Given the description of an element on the screen output the (x, y) to click on. 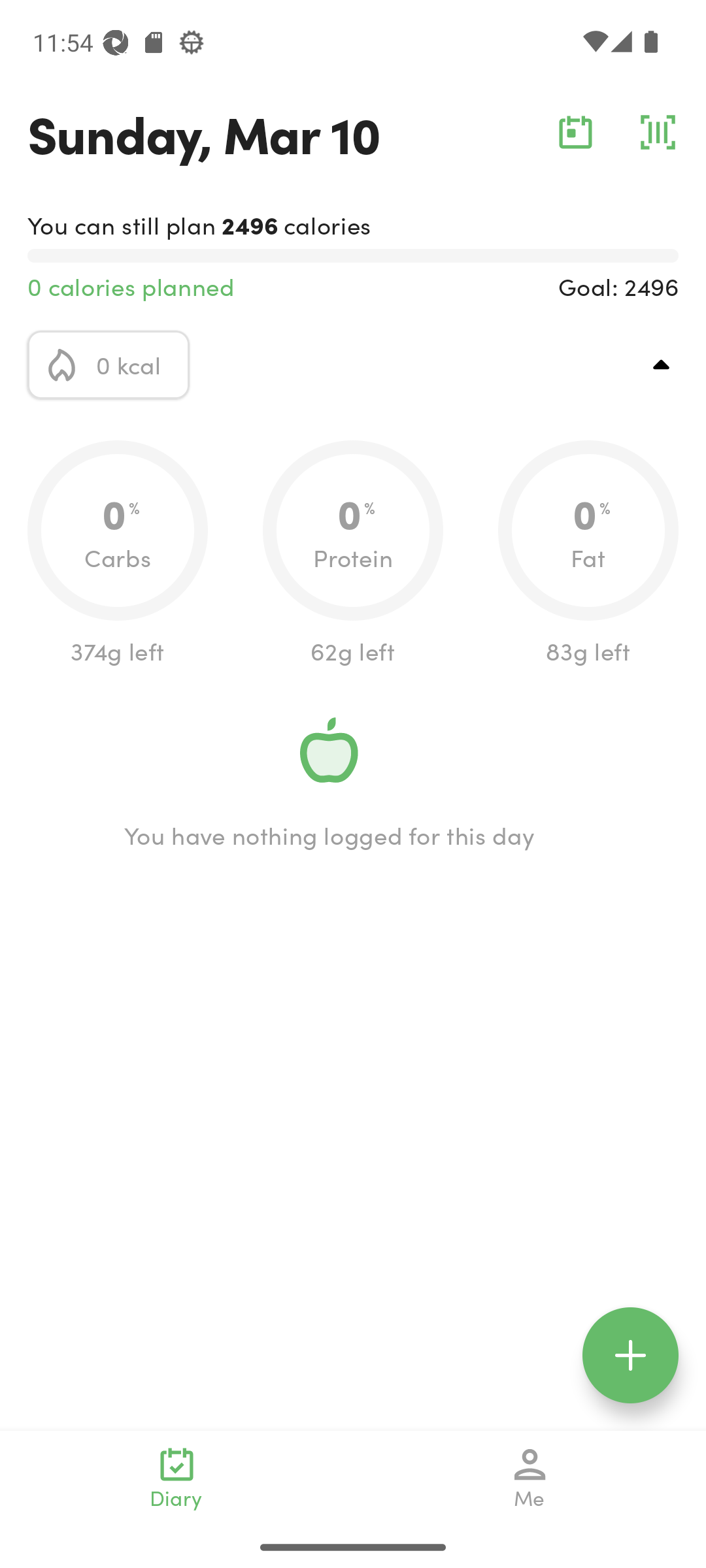
calendar_action (575, 132)
barcode_action (658, 132)
calorie_icon 0 kcal (108, 365)
top_right_action (661, 365)
0.0 0 % Carbs 374g left (117, 553)
0.0 0 % Protein 62g left (352, 553)
0.0 0 % Fat 83g left (588, 553)
floating_action_icon (630, 1355)
Me navigation_icon (529, 1478)
